Given the description of an element on the screen output the (x, y) to click on. 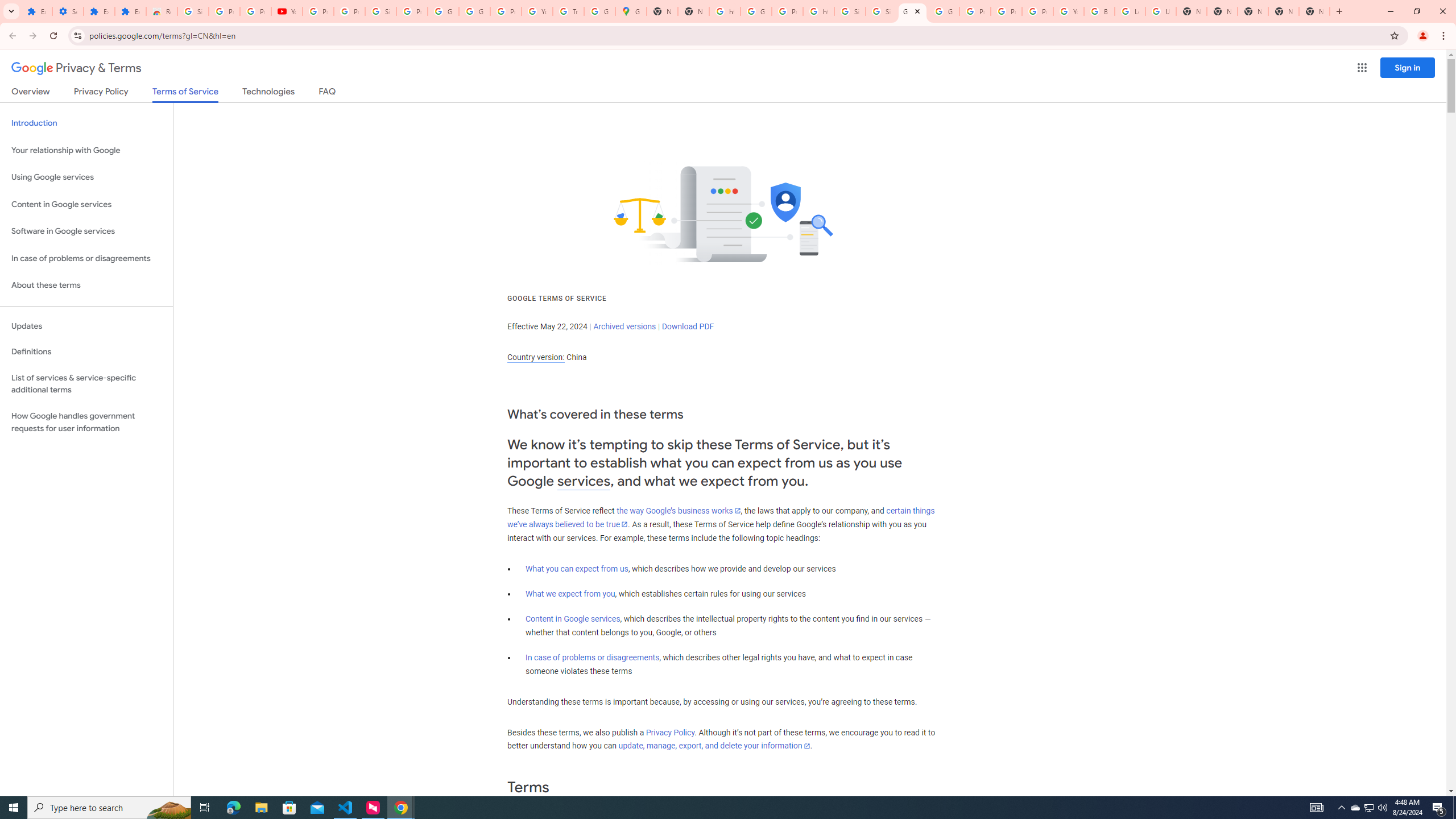
Google Maps (631, 11)
Reviews: Helix Fruit Jump Arcade Game (161, 11)
Using Google services (86, 176)
Extensions (36, 11)
YouTube (536, 11)
YouTube (1068, 11)
Archived versions (624, 326)
